Given the description of an element on the screen output the (x, y) to click on. 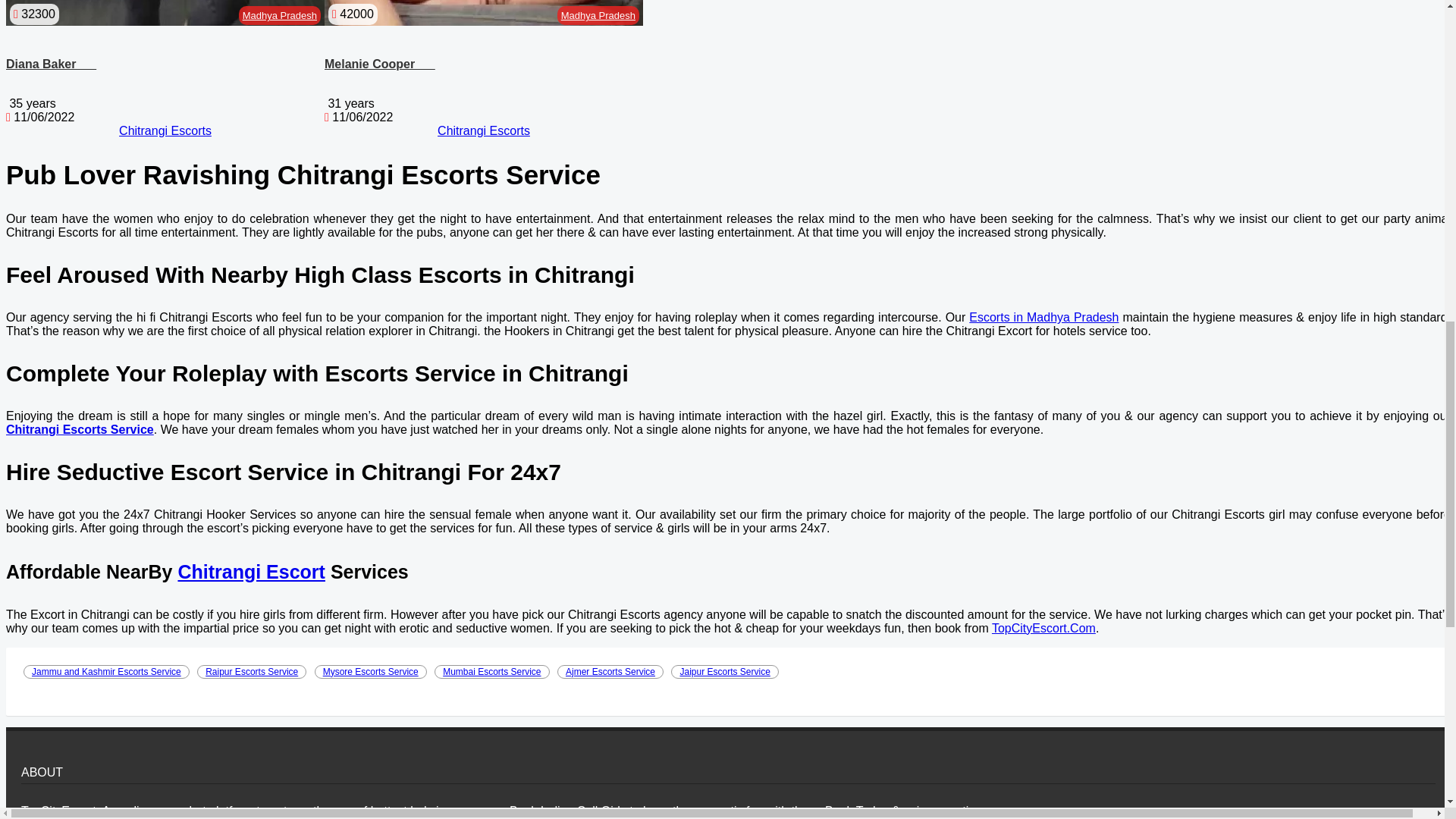
Chitrangi Escort (250, 571)
Melanie Cooper (379, 63)
Mysore Escorts Service (370, 671)
Mumbai Escorts Service (490, 671)
Ajmer Escorts Service (610, 671)
Jaipur Escorts Service (724, 671)
Chitrangi Escorts (483, 130)
Diana Baker (50, 63)
Melanie Cooper       (379, 63)
Madhya Pradesh (280, 15)
Escorts in Madhya Pradesh (1043, 317)
Chitrangi Escorts Service (79, 429)
Raipur Escorts Service (250, 671)
Chitrangi Escorts (165, 130)
Madhya Pradesh (597, 15)
